Given the description of an element on the screen output the (x, y) to click on. 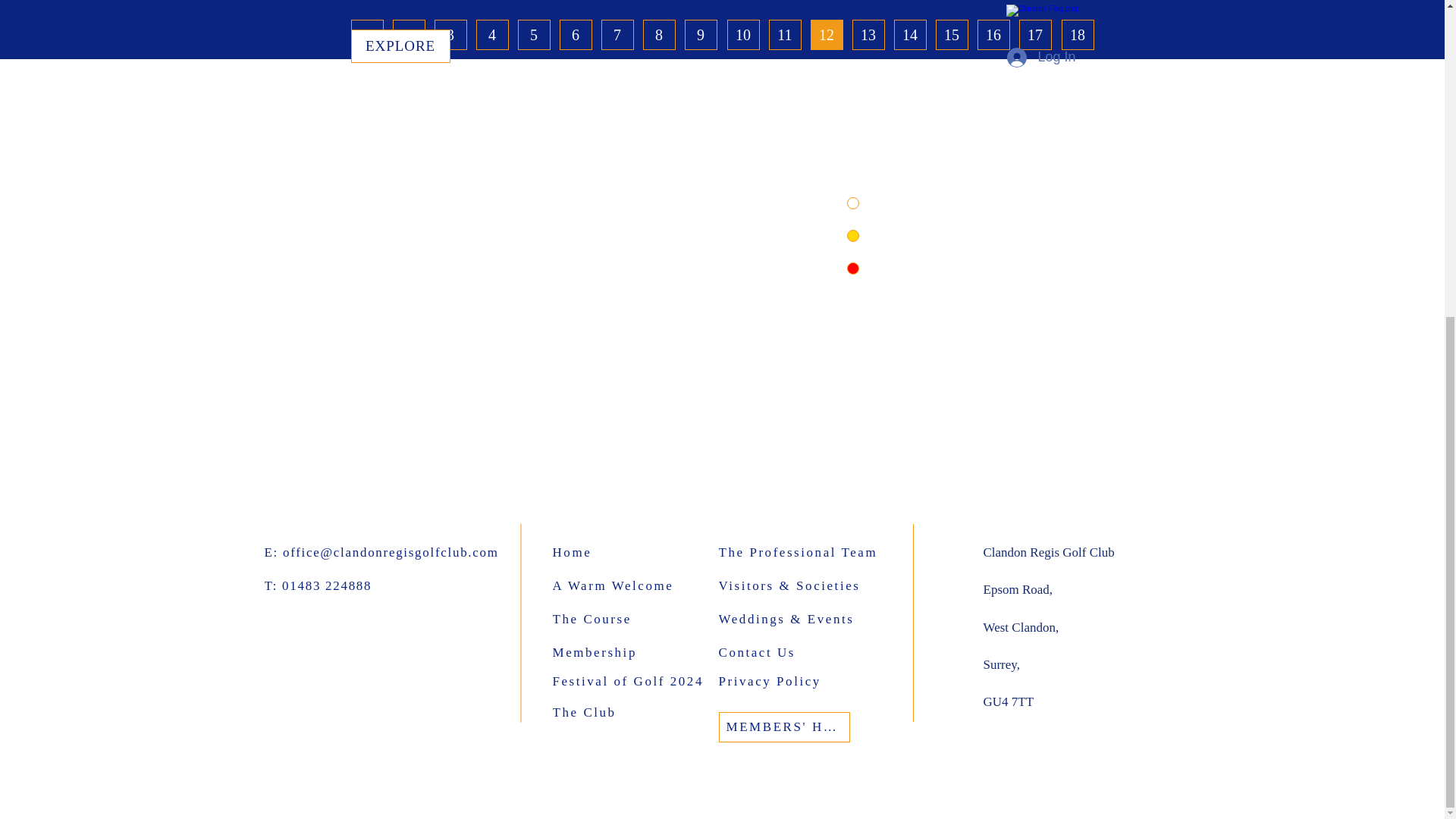
12 (826, 34)
17 (1035, 34)
16 (992, 34)
15 (952, 34)
18 (1077, 34)
2 (409, 34)
13 (868, 34)
Privacy Policy (796, 681)
Contact Us (796, 652)
9 (700, 34)
